Given the description of an element on the screen output the (x, y) to click on. 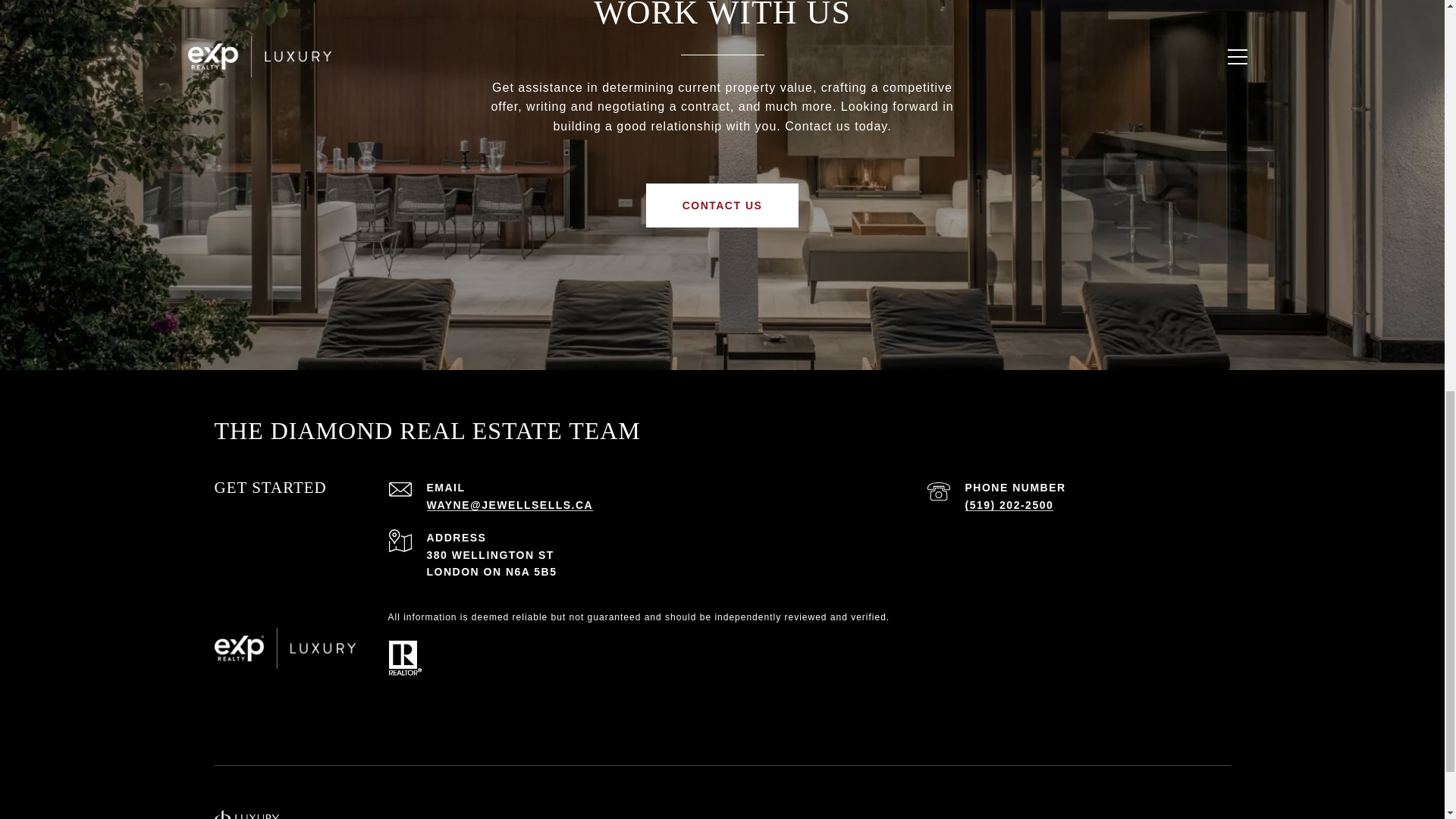
Luxury Presence (576, 817)
CONTACT US (722, 205)
Privacy Policy (871, 817)
